Given the description of an element on the screen output the (x, y) to click on. 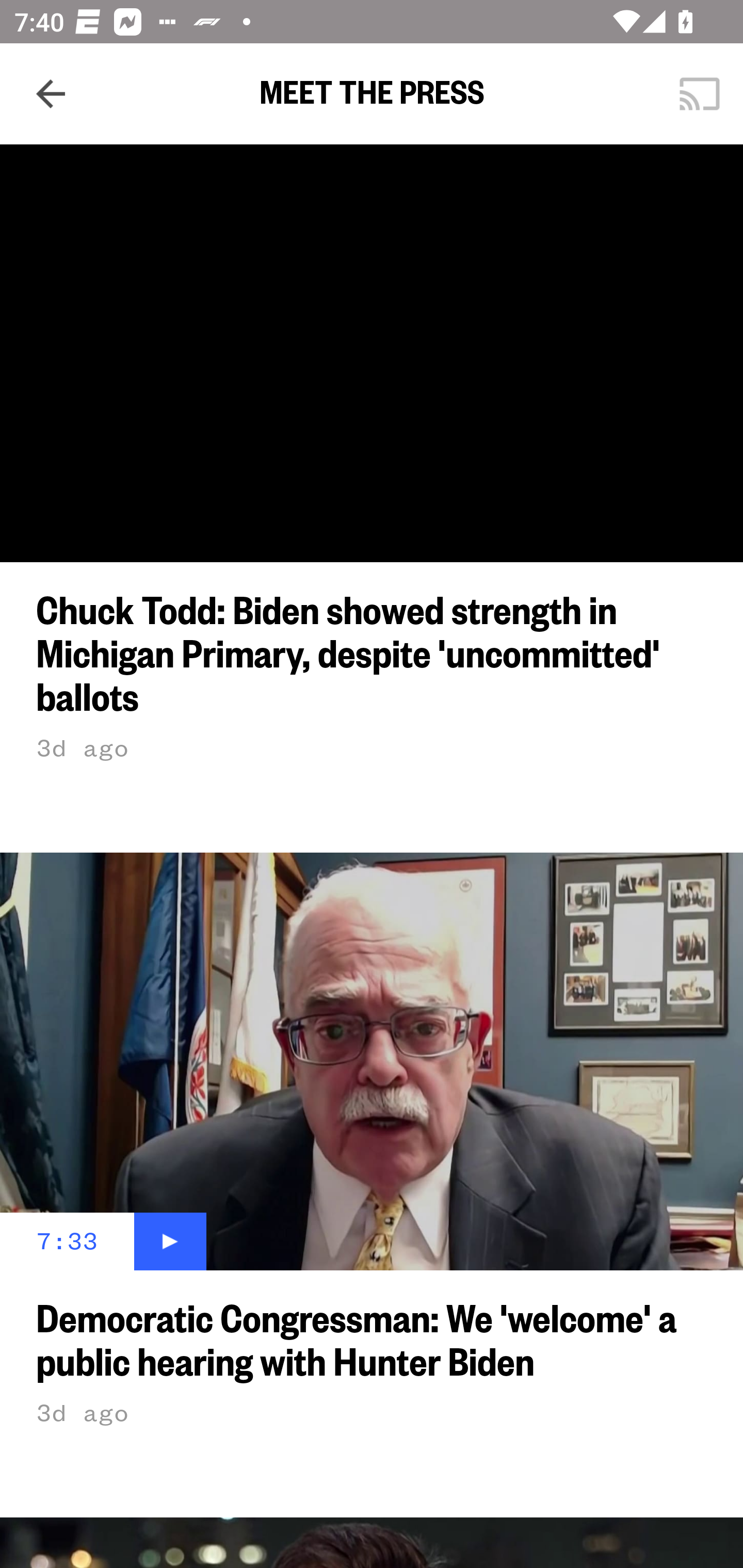
Navigate up (50, 93)
Cast. Disconnected (699, 93)
